Given the description of an element on the screen output the (x, y) to click on. 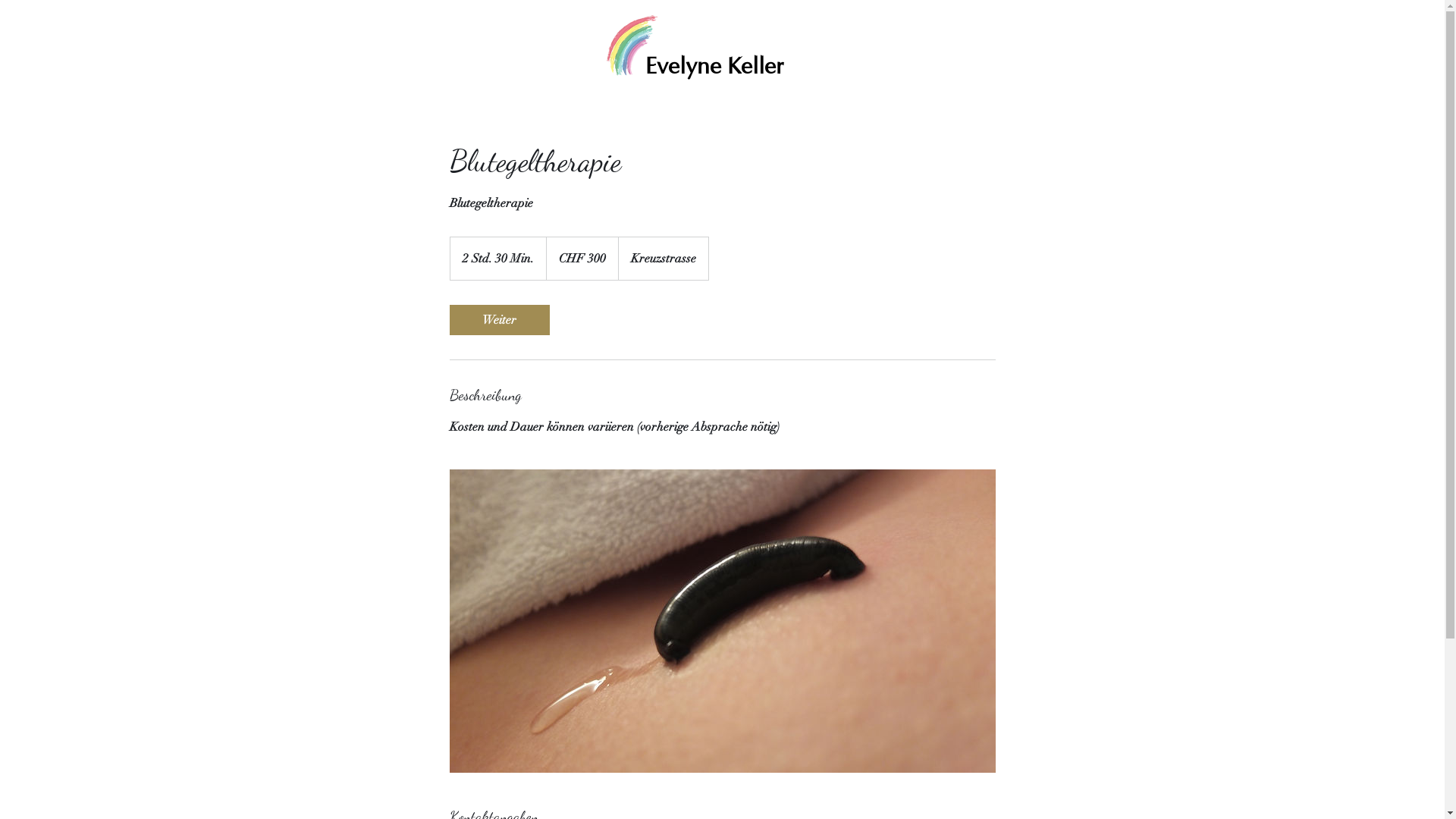
Evelyne Keller Element type: text (713, 65)
Weiter Element type: text (498, 319)
